Given the description of an element on the screen output the (x, y) to click on. 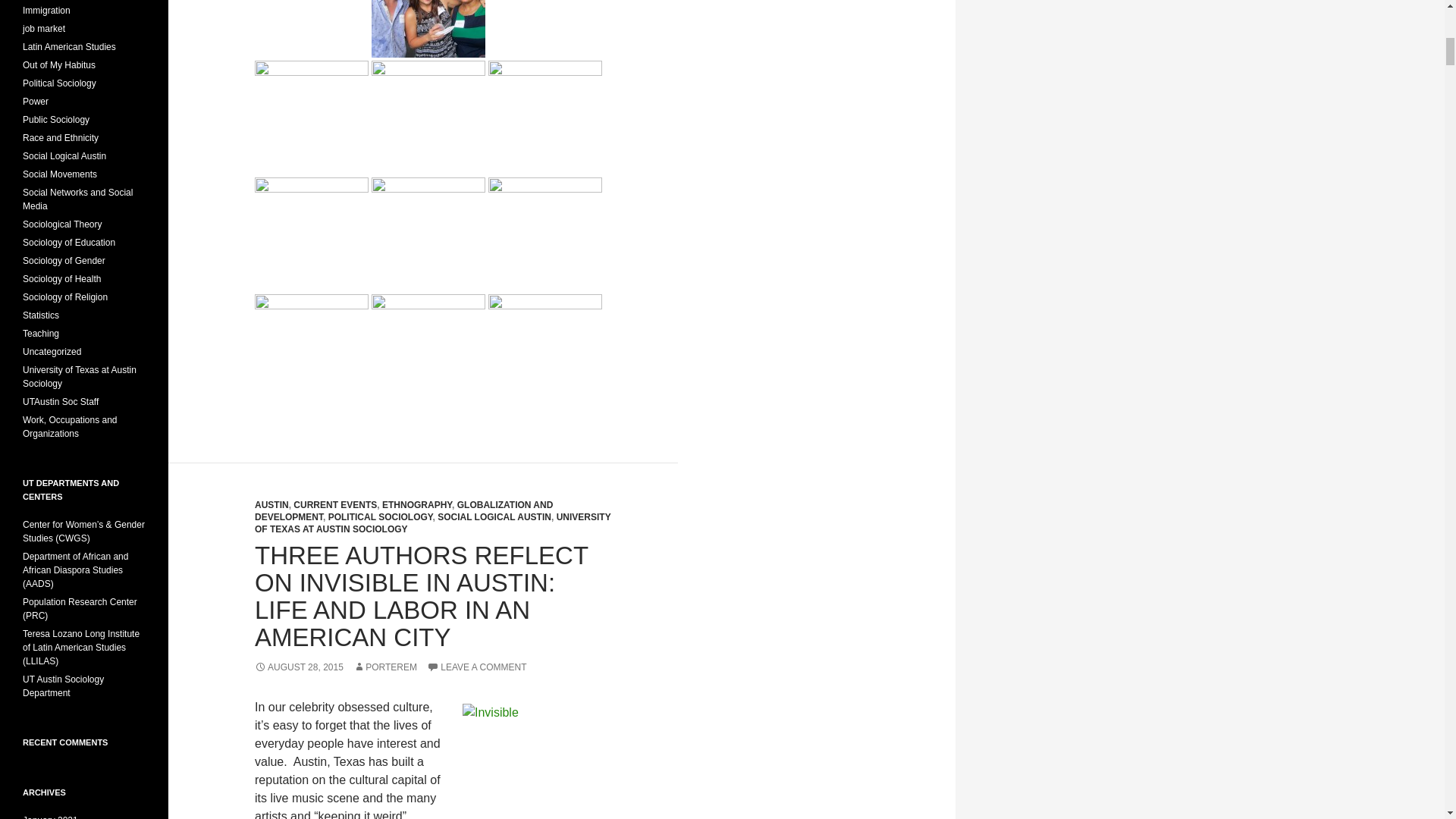
ETHNOGRAPHY (416, 504)
CURRENT EVENTS (335, 504)
POLITICAL SOCIOLOGY (380, 516)
SOCIAL LOGICAL AUSTIN (494, 516)
AUSTIN (271, 504)
GLOBALIZATION AND DEVELOPMENT (403, 510)
